Given the description of an element on the screen output the (x, y) to click on. 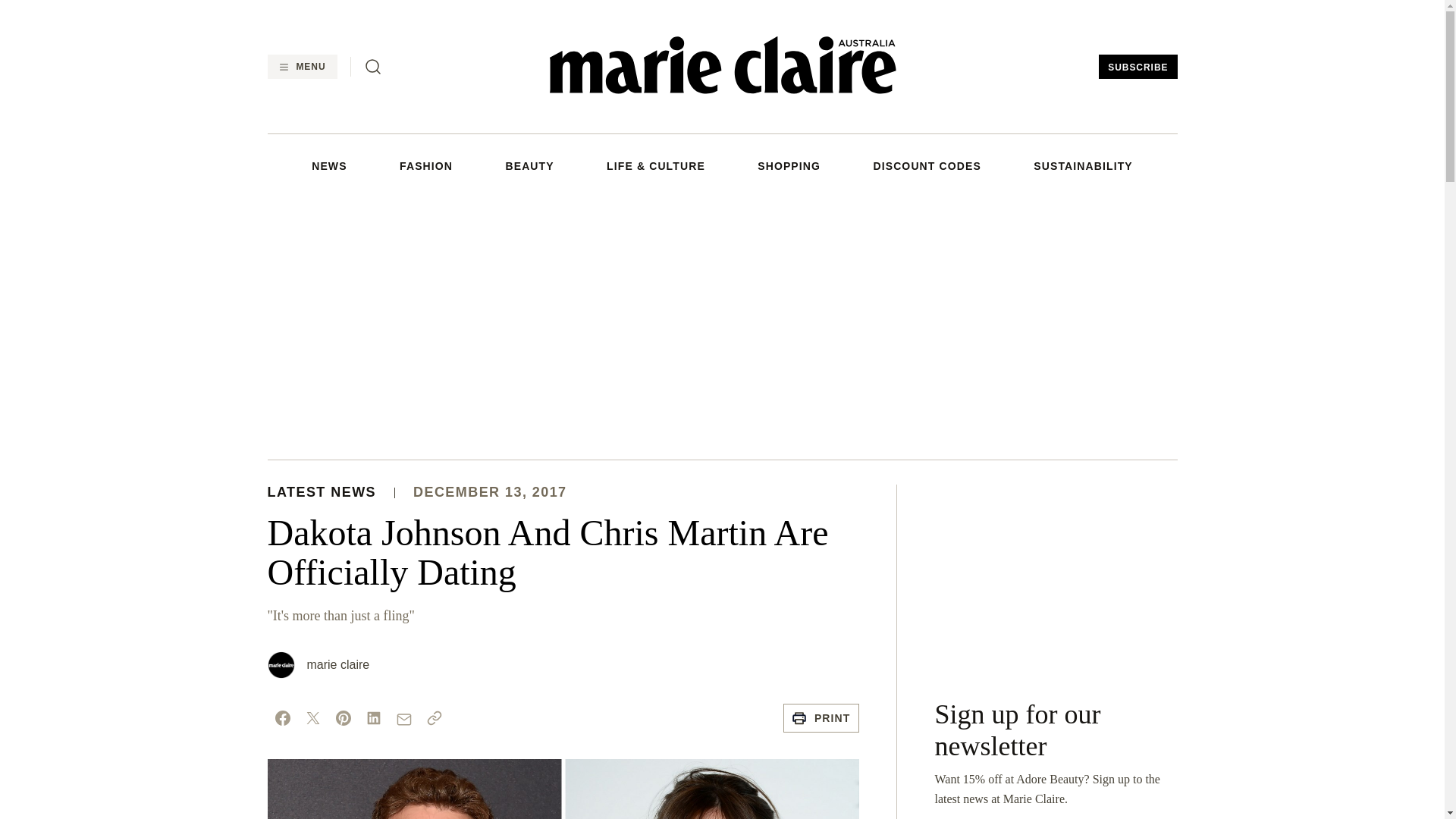
BEAUTY (529, 165)
MENU (301, 66)
SUSTAINABILITY (1082, 165)
SUBSCRIBE (1137, 66)
FASHION (425, 165)
3rd party ad content (721, 325)
DISCOUNT CODES (925, 165)
NEWS (328, 165)
3rd party ad content (1055, 579)
SHOPPING (789, 165)
